Given the description of an element on the screen output the (x, y) to click on. 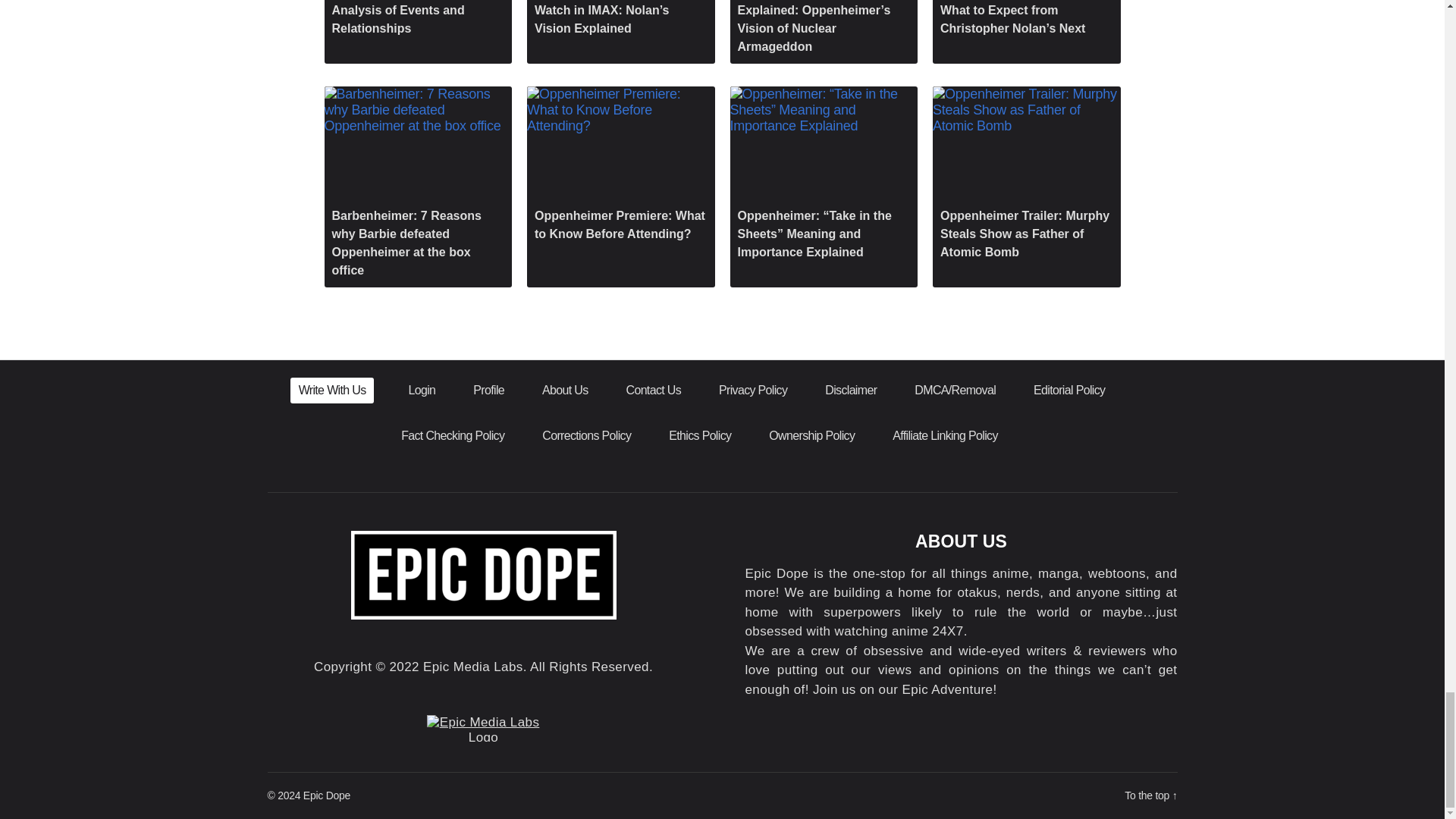
Oppenheimer Premiere: What to Know Before Attending? (620, 168)
